Given the description of an element on the screen output the (x, y) to click on. 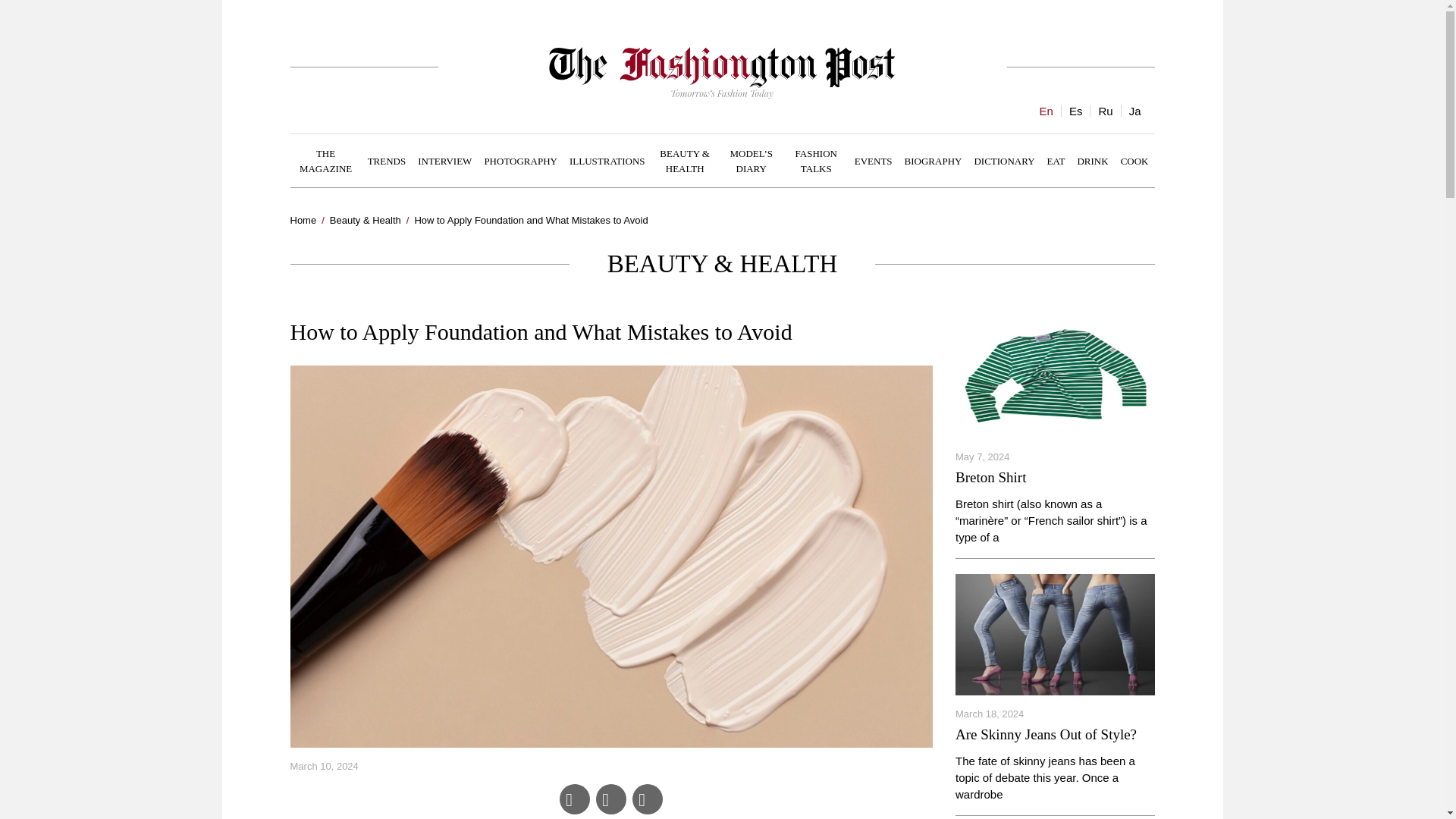
COOK (1134, 160)
Home (302, 220)
Es (1075, 110)
DRINK (1091, 160)
Facebook (574, 799)
Pinterest (646, 799)
BIOGRAPHY (933, 160)
PHOTOGRAPHY (520, 160)
ILLUSTRATIONS (606, 160)
INTERVIEW (444, 160)
FASHION TALKS (816, 160)
Ru (1104, 110)
EVENTS (873, 160)
Ja (1134, 110)
DICTIONARY (1004, 160)
